Given the description of an element on the screen output the (x, y) to click on. 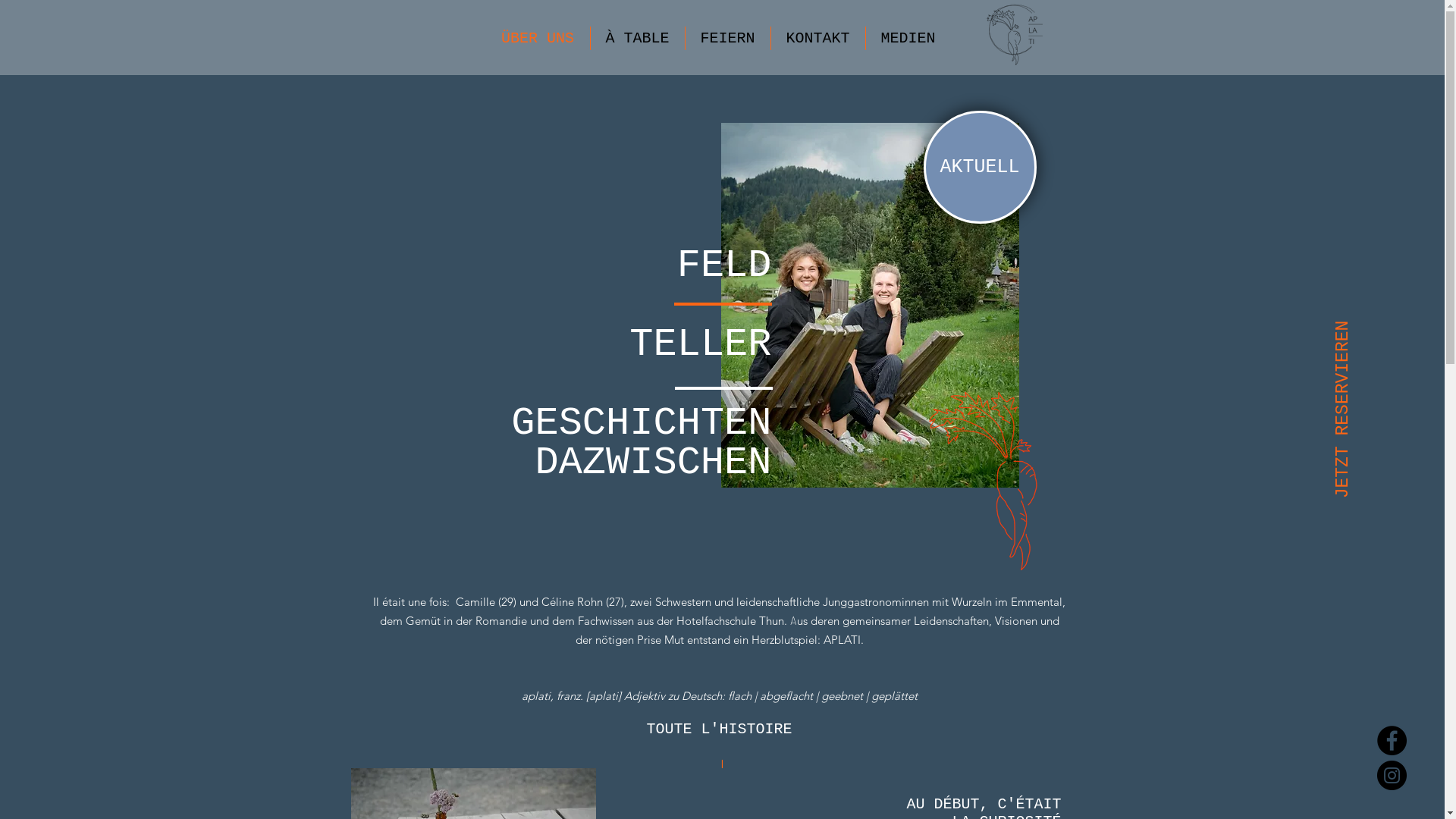
MEDIEN Element type: text (908, 38)
FEIERN Element type: text (727, 38)
AKTUELL Element type: text (979, 166)
KONTAKT Element type: text (817, 38)
